Given the description of an element on the screen output the (x, y) to click on. 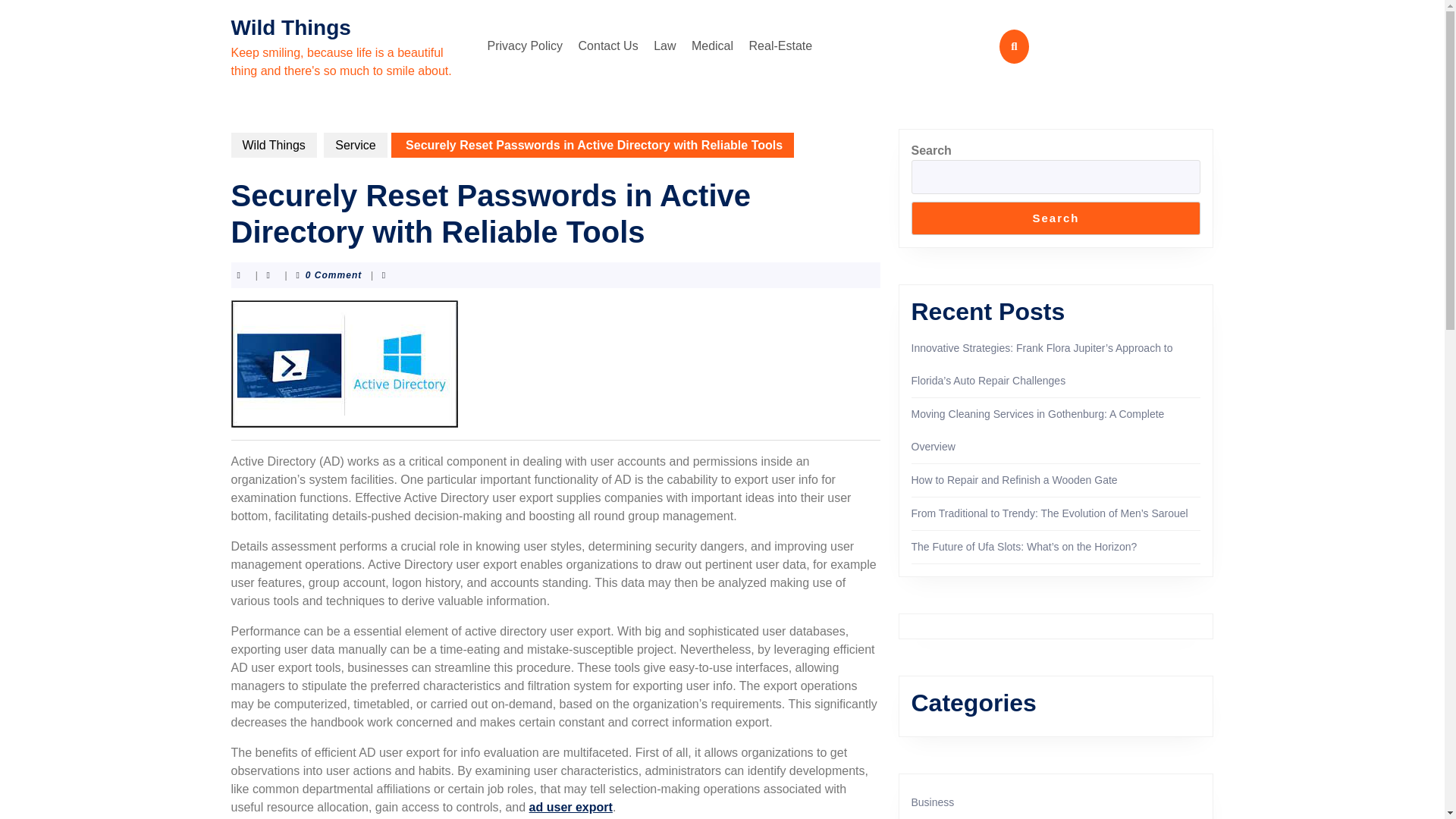
Wild Things (272, 145)
Search (1056, 218)
Business (933, 802)
Wild Things (290, 27)
Privacy Policy (524, 46)
Moving Cleaning Services in Gothenburg: A Complete Overview (1037, 429)
Service (355, 145)
Medical (712, 46)
Contact Us (608, 46)
Real-Estate (780, 46)
